Given the description of an element on the screen output the (x, y) to click on. 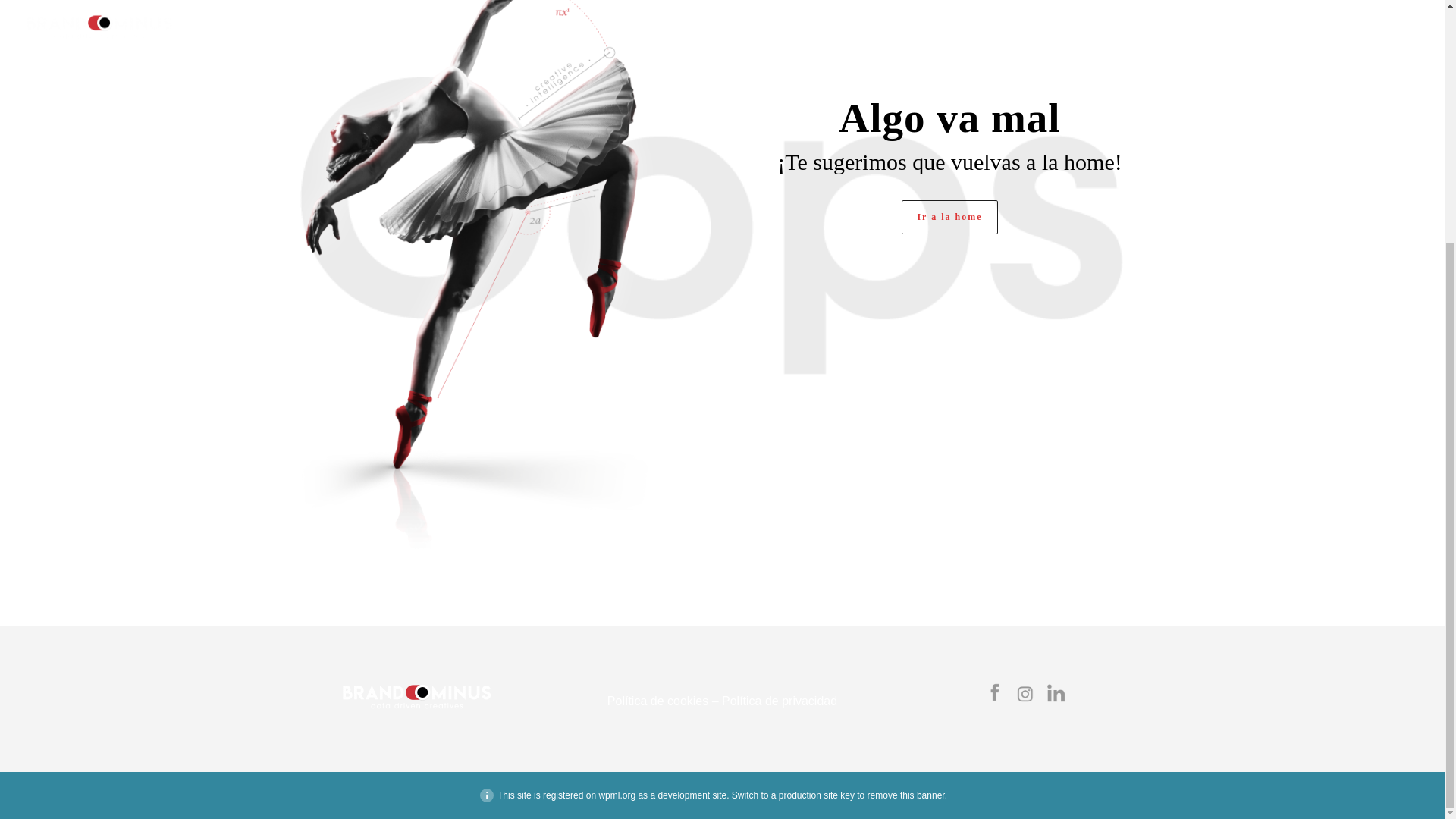
Ir a la home (949, 216)
